Given the description of an element on the screen output the (x, y) to click on. 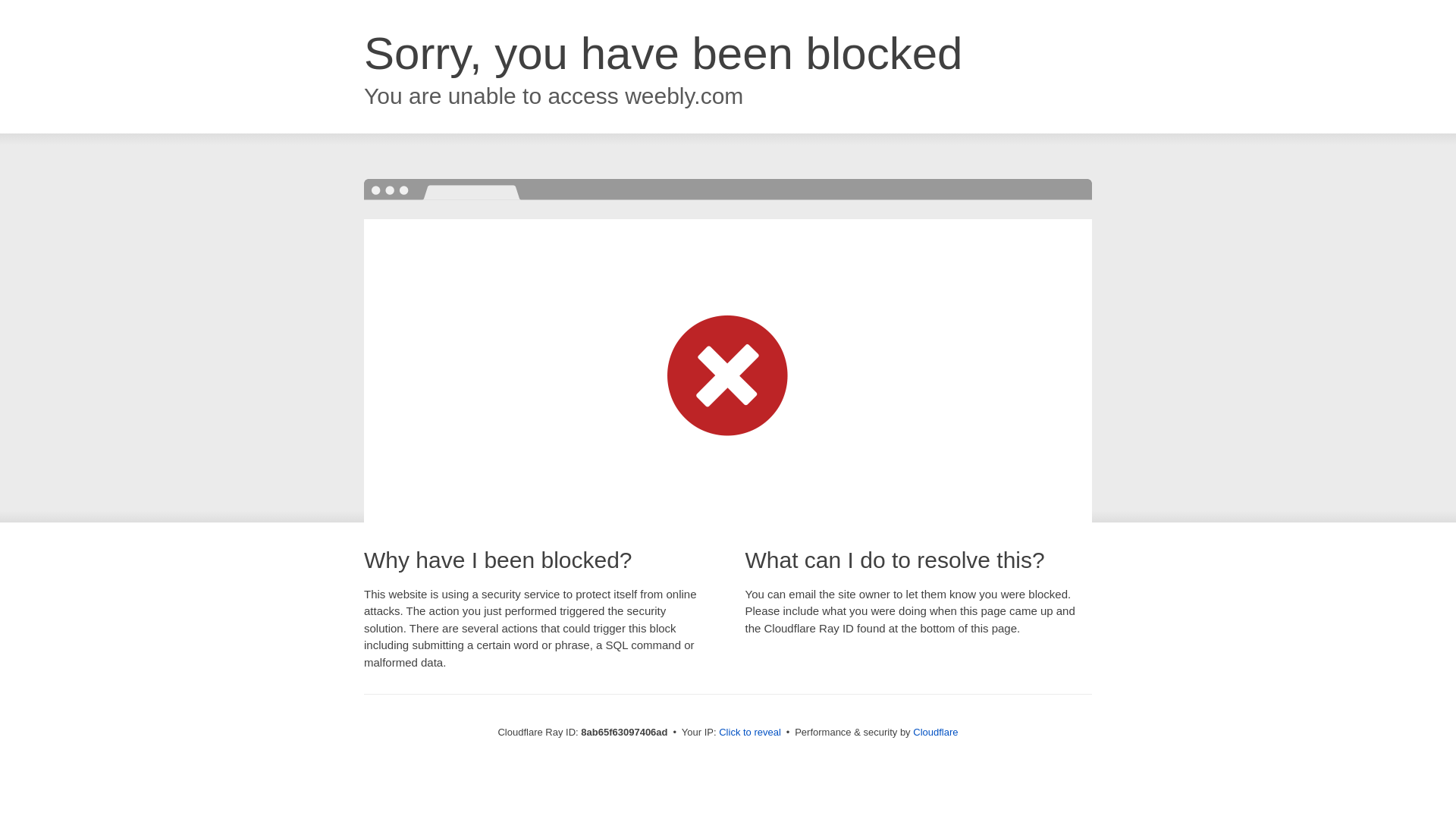
Cloudflare (935, 731)
Click to reveal (749, 732)
